Given the description of an element on the screen output the (x, y) to click on. 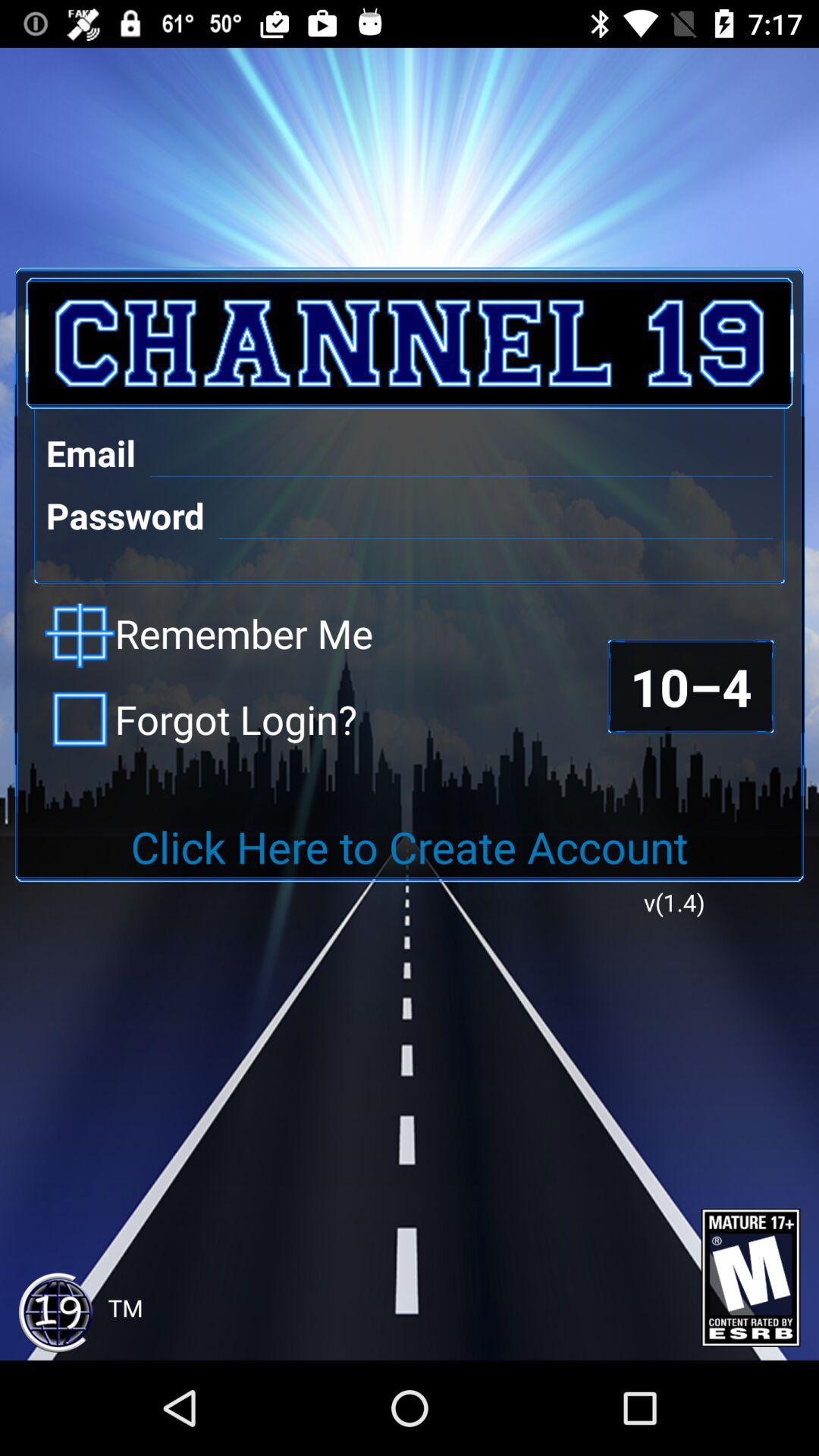
swipe to the forgot login? icon (200, 719)
